Given the description of an element on the screen output the (x, y) to click on. 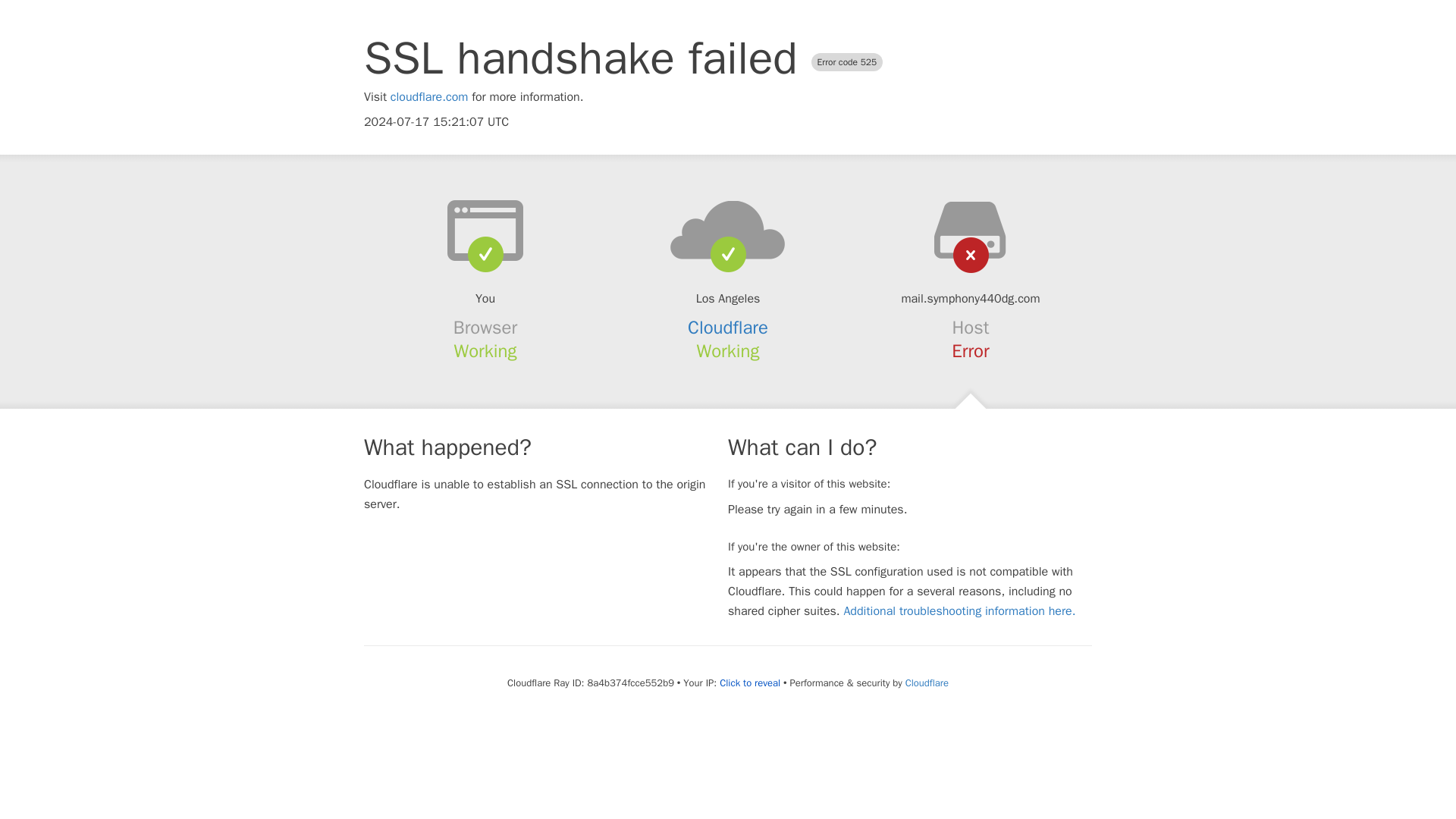
Cloudflare (927, 682)
Additional troubleshooting information here. (959, 611)
Click to reveal (749, 683)
Cloudflare (727, 327)
cloudflare.com (429, 96)
